Given the description of an element on the screen output the (x, y) to click on. 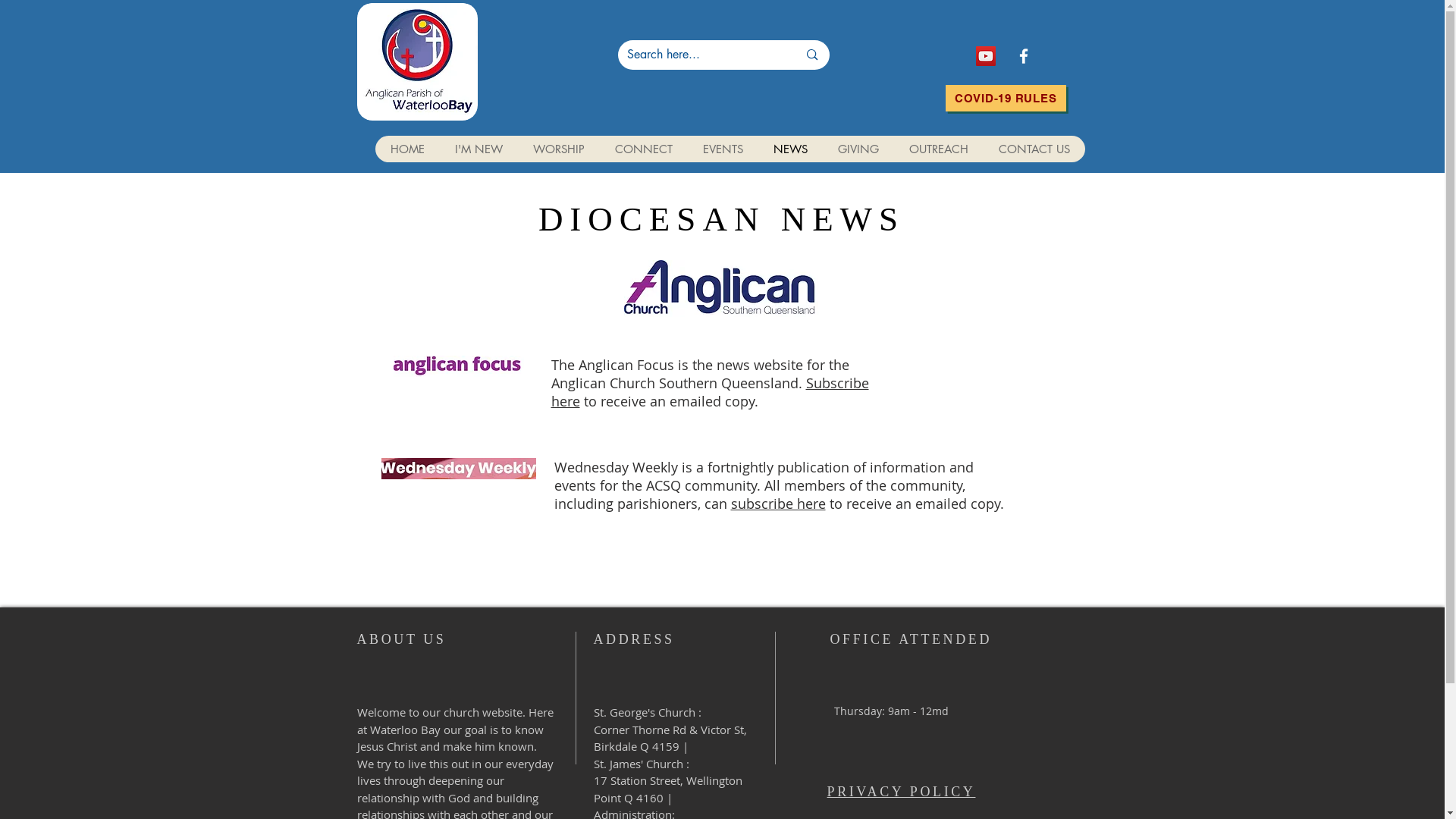
COVID-19 RULES Element type: text (1004, 97)
OUTREACH Element type: text (937, 148)
subscribe here Element type: text (778, 503)
EVENTS Element type: text (722, 148)
HOME Element type: text (406, 148)
Subscribe here Element type: text (709, 391)
NEWS Element type: text (790, 148)
PRIVACY POLICY Element type: text (901, 791)
CONNECT Element type: text (643, 148)
  Element type: text (826, 503)
CONTACT US Element type: text (1033, 148)
ACSQLogo.jpg Element type: hover (720, 288)
GIVING Element type: text (857, 148)
WORSHIP Element type: text (558, 148)
I'M NEW Element type: text (478, 148)
